Given the description of an element on the screen output the (x, y) to click on. 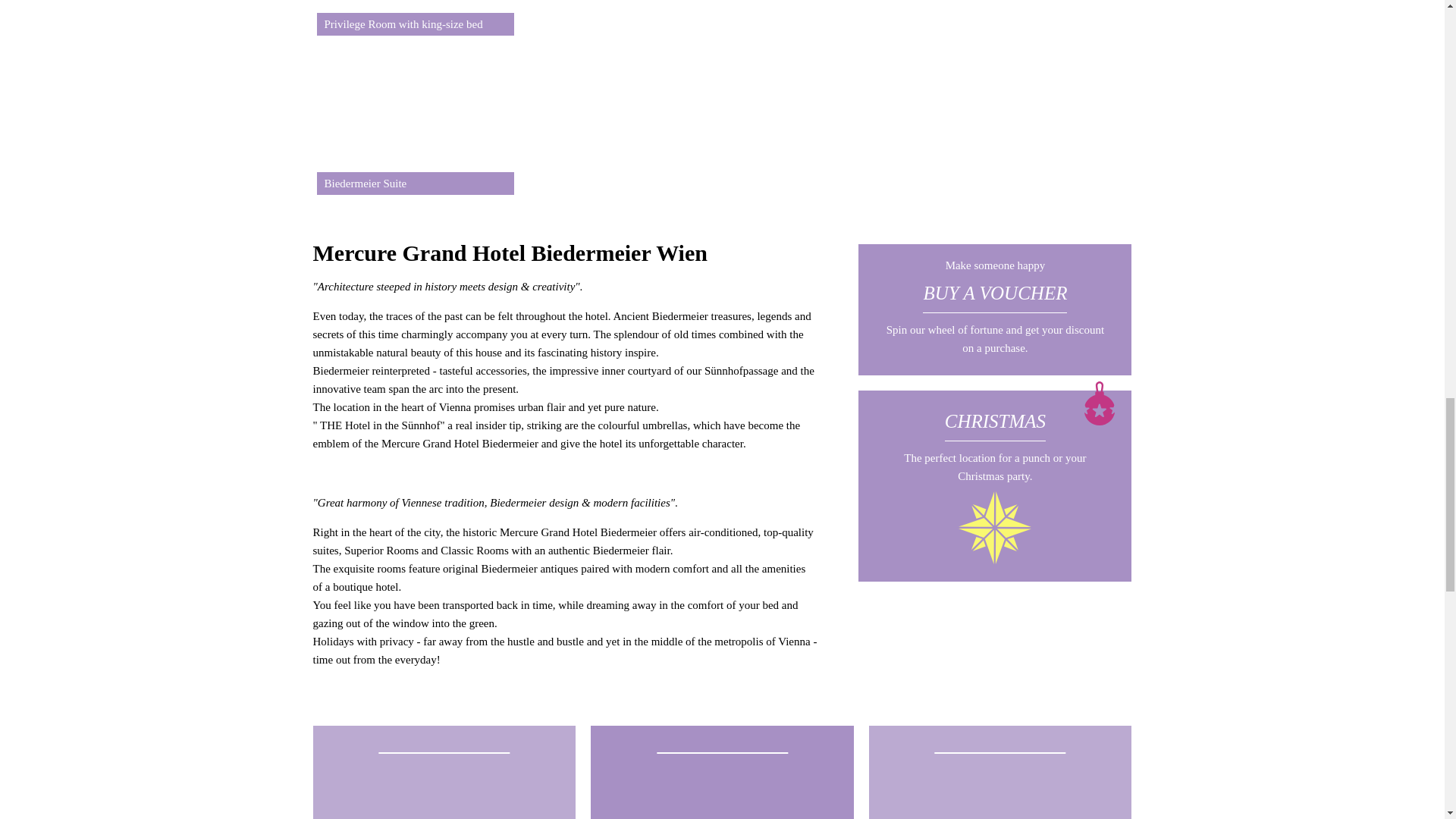
Privilege Room with king-size bed (414, 18)
Biedermeier Suite (414, 115)
